Given the description of an element on the screen output the (x, y) to click on. 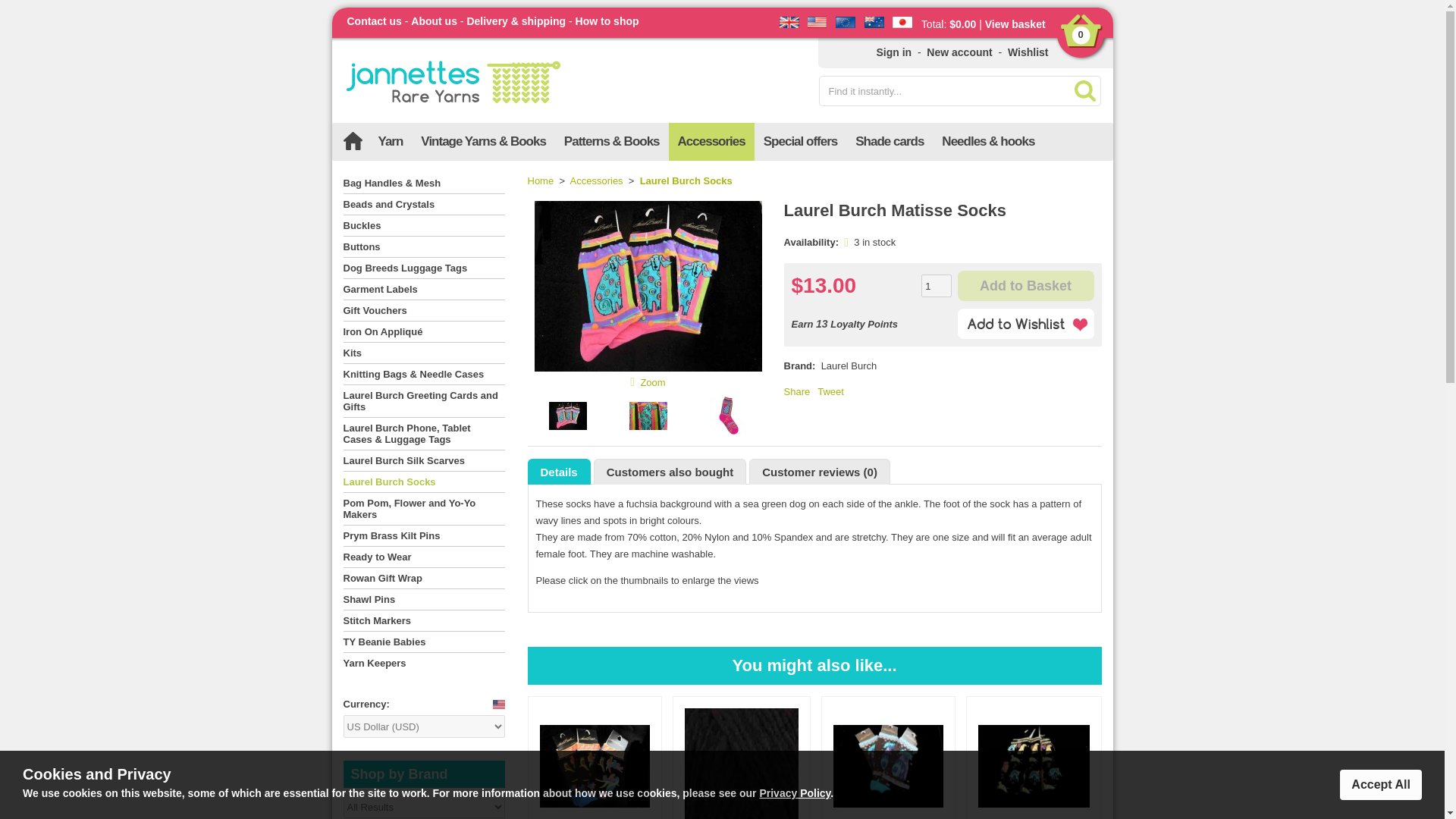
Laurel Burch Socks (686, 180)
Home (540, 180)
Laurel Burch Matisse Socks (632, 382)
Stitch Markers (422, 619)
Go (1084, 91)
Yarn (390, 141)
Kits (422, 352)
Details (558, 471)
Add to Wish List (1024, 323)
Zoom (652, 381)
Buckles (422, 224)
Rowan Gift Wrap (422, 577)
1 (936, 285)
Garment Labels (422, 288)
Knitting Accessories (711, 141)
